Given the description of an element on the screen output the (x, y) to click on. 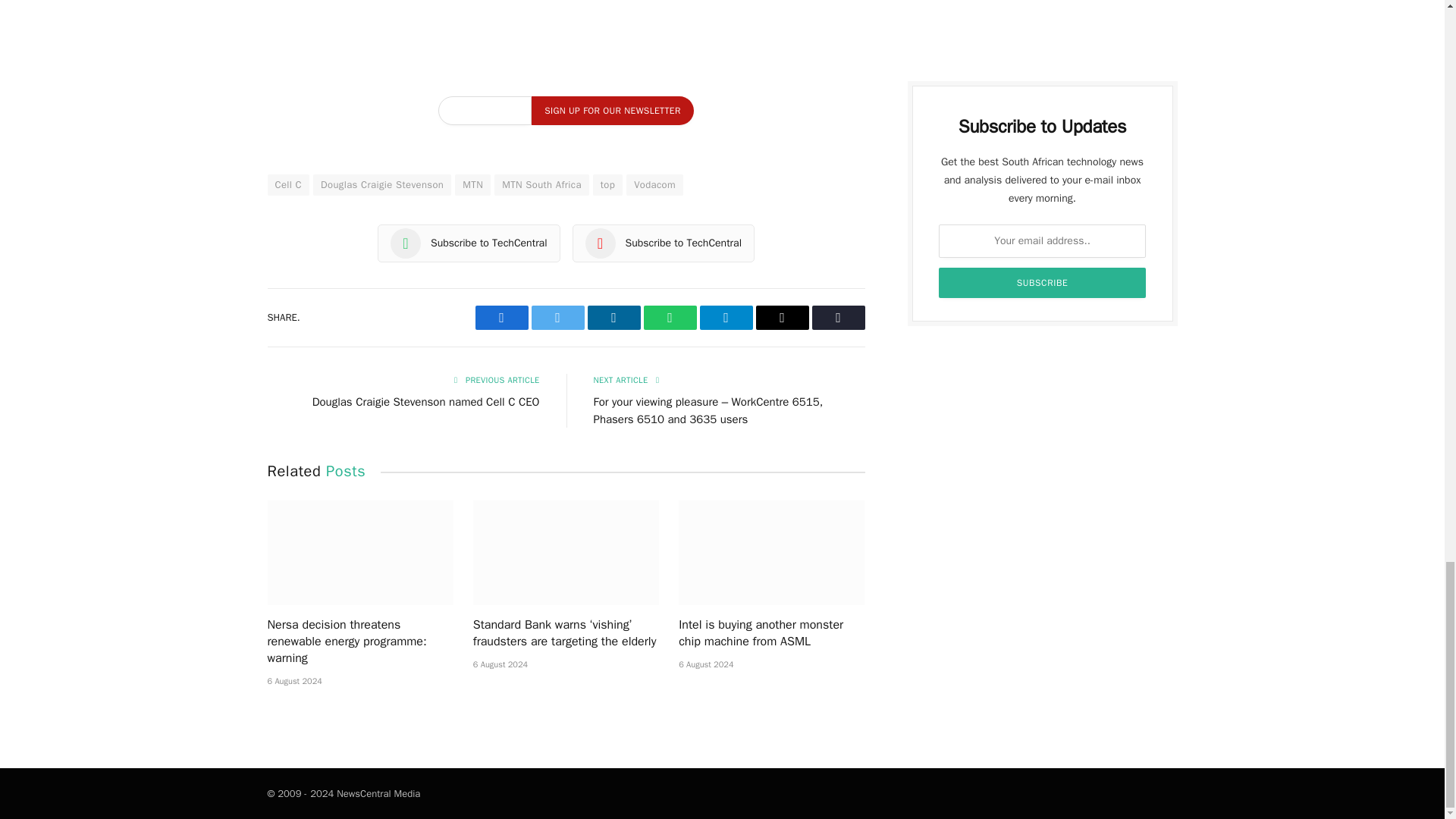
Sign up for our newsletter (612, 110)
Subscribe (1043, 282)
